Given the description of an element on the screen output the (x, y) to click on. 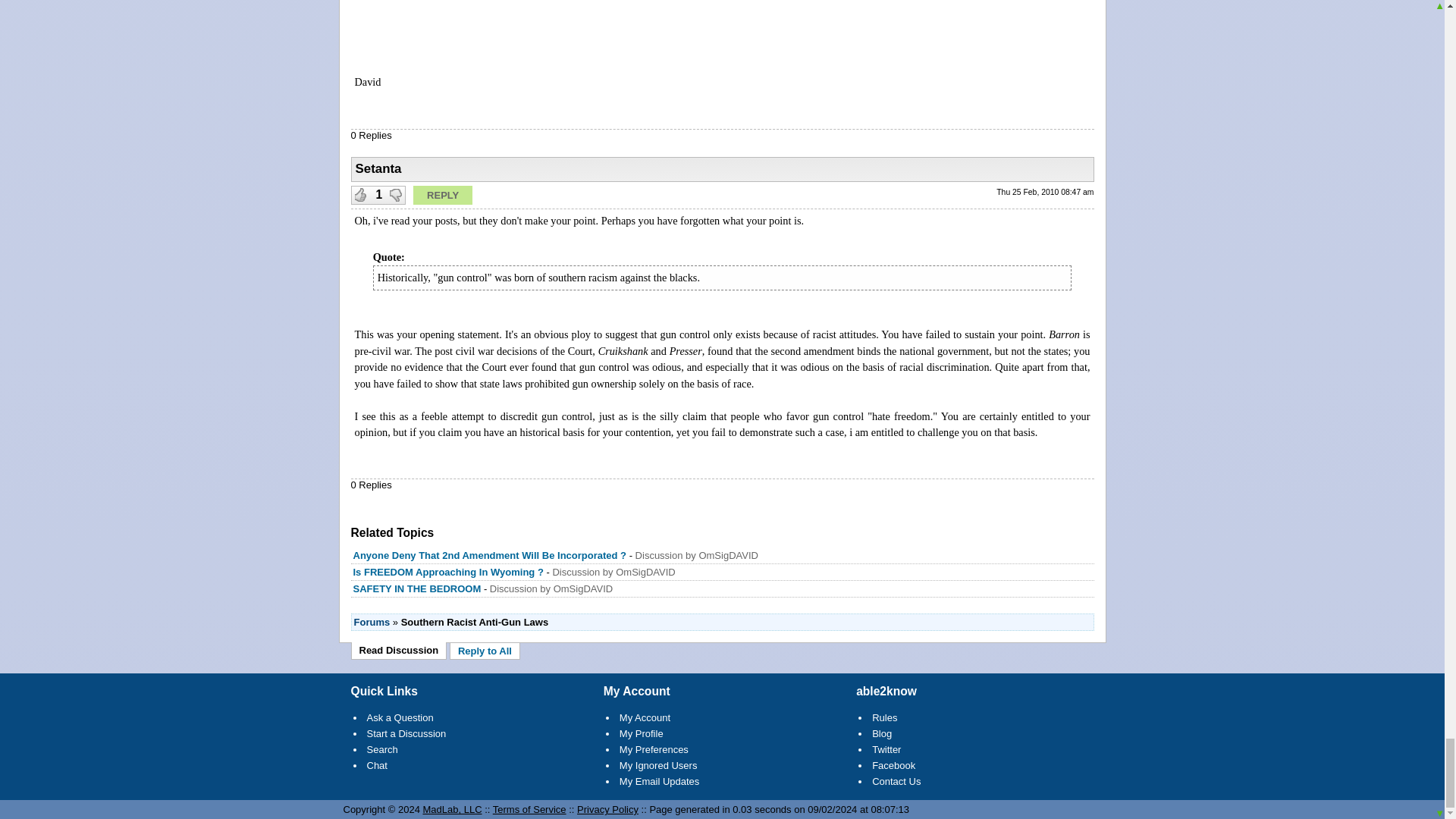
Anyone Deny That 2nd Amendment Will Be Incorporated ? (490, 555)
Ask a Question (399, 717)
SAFETY IN THE BEDROOM (417, 588)
Reply to All (484, 651)
My Account (644, 717)
Chat (376, 765)
Is FREEDOM Approaching In Wyoming ? (448, 572)
My Profile (641, 733)
Start a Discussion (406, 733)
Search (381, 749)
